Given the description of an element on the screen output the (x, y) to click on. 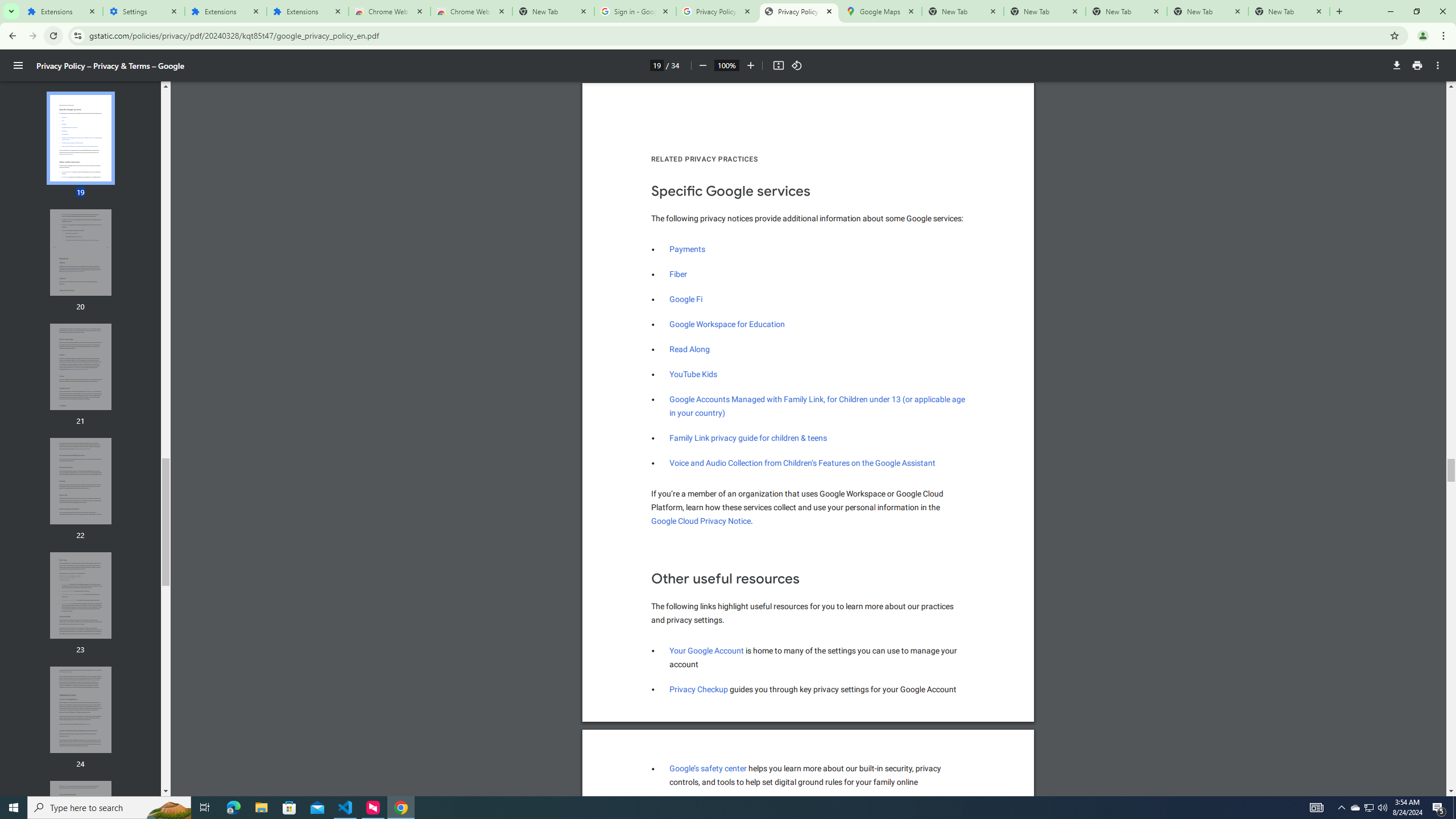
Thumbnail for page 21 (697, 412)
Thumbnail for page 19 (726, 324)
Zoom level (80, 366)
Chrome Web Store - Themes (80, 138)
New Tab (726, 64)
Menu (470, 11)
